Given the description of an element on the screen output the (x, y) to click on. 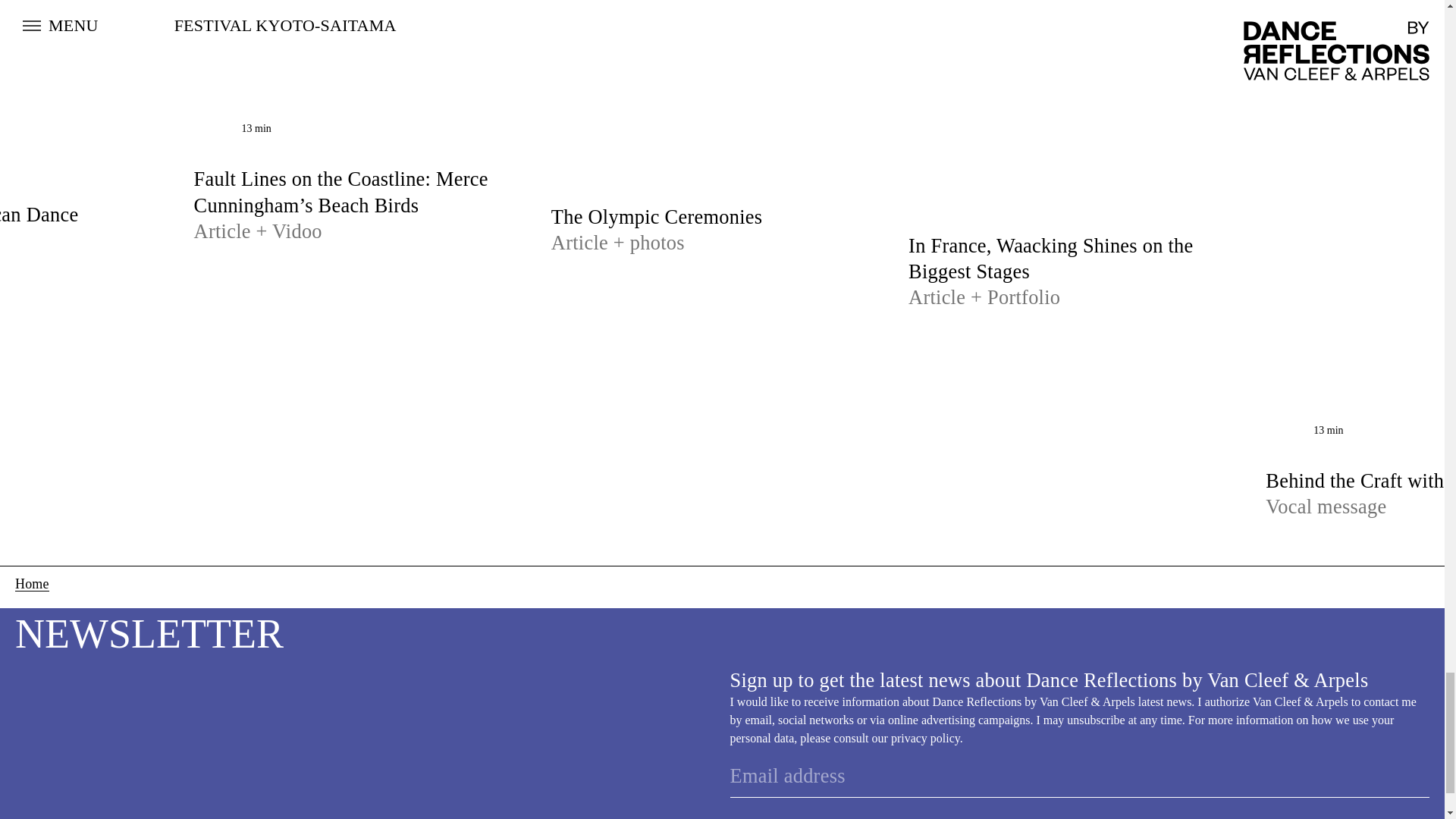
Home (31, 583)
